Given the description of an element on the screen output the (x, y) to click on. 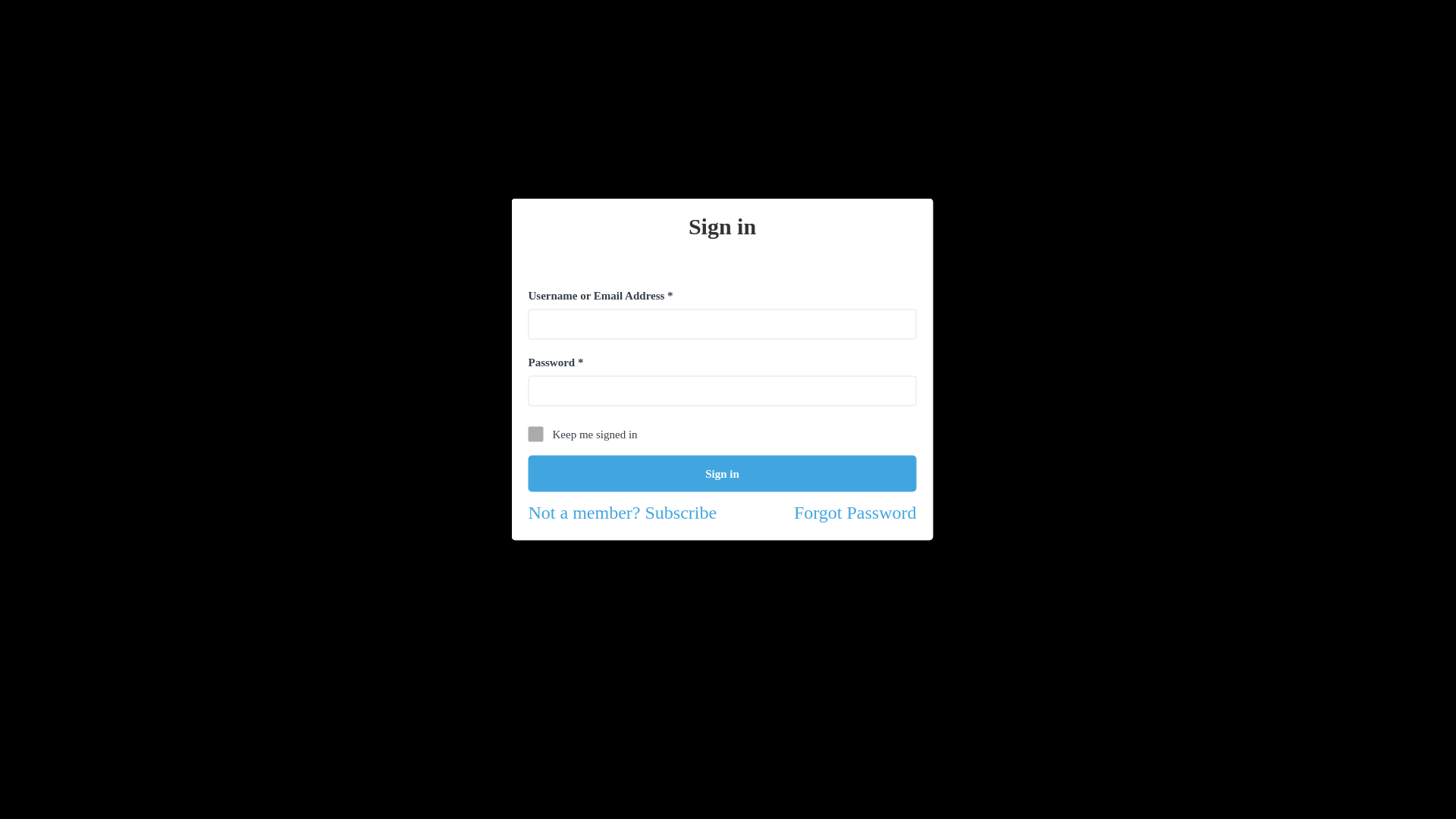
Sign in (721, 473)
Not a member? Subscribe (621, 511)
Previous (22, 192)
Share (1056, 354)
Forgot Password (855, 512)
Sign in (721, 473)
Home (301, 337)
Next (1421, 192)
Save (1123, 354)
Your City... (726, 48)
Sign In (24, 108)
.Full Service (357, 337)
Submit (419, 502)
Sign In (1391, 48)
